Given the description of an element on the screen output the (x, y) to click on. 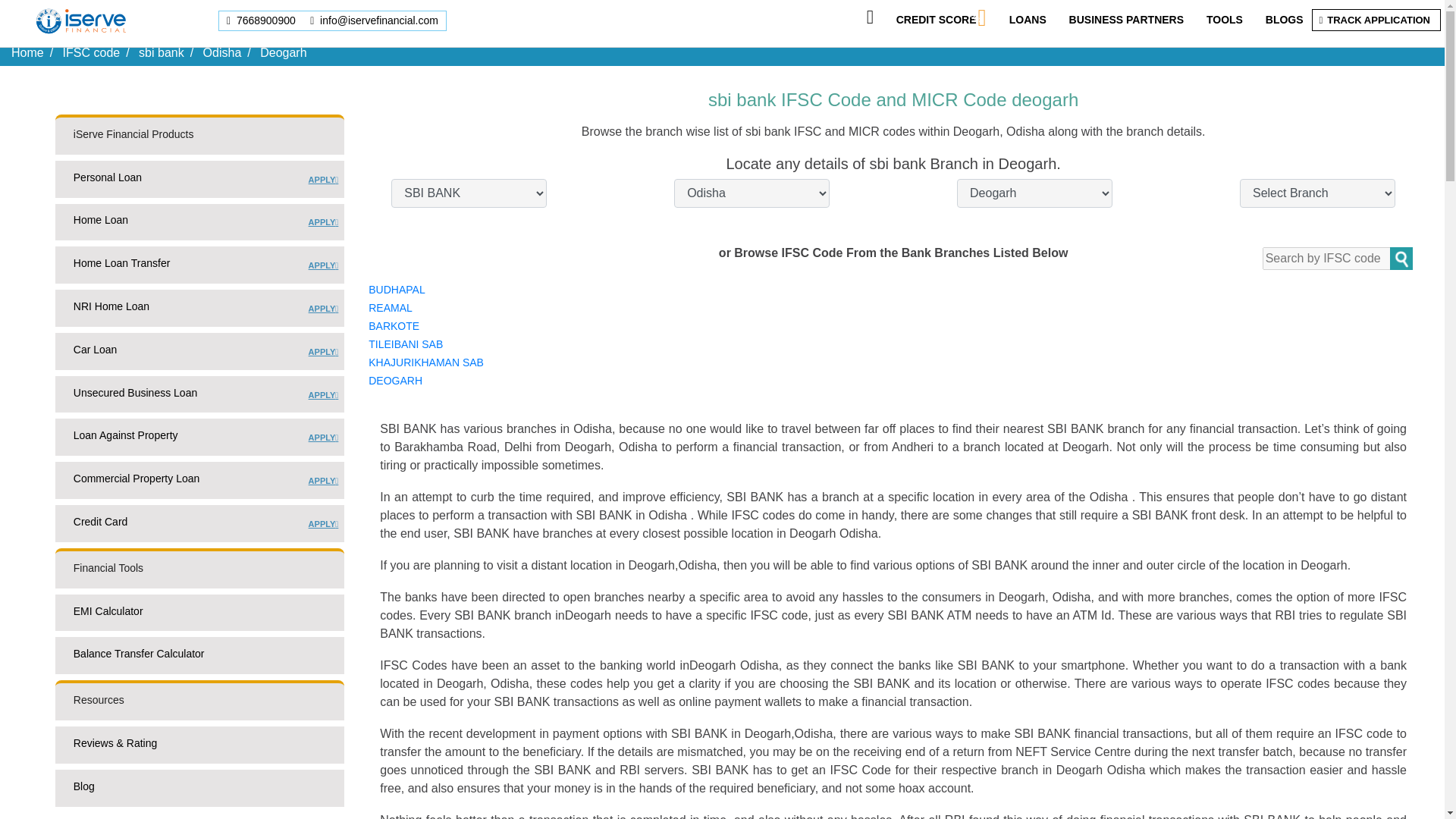
sbi bank (199, 310)
BLOGS (161, 51)
BUSINESS PARTNERS (1284, 19)
Home (1125, 19)
Odisha (27, 51)
 7668900900 (222, 51)
IFSC code (262, 20)
TRACK APPLICATION (91, 51)
